Given the description of an element on the screen output the (x, y) to click on. 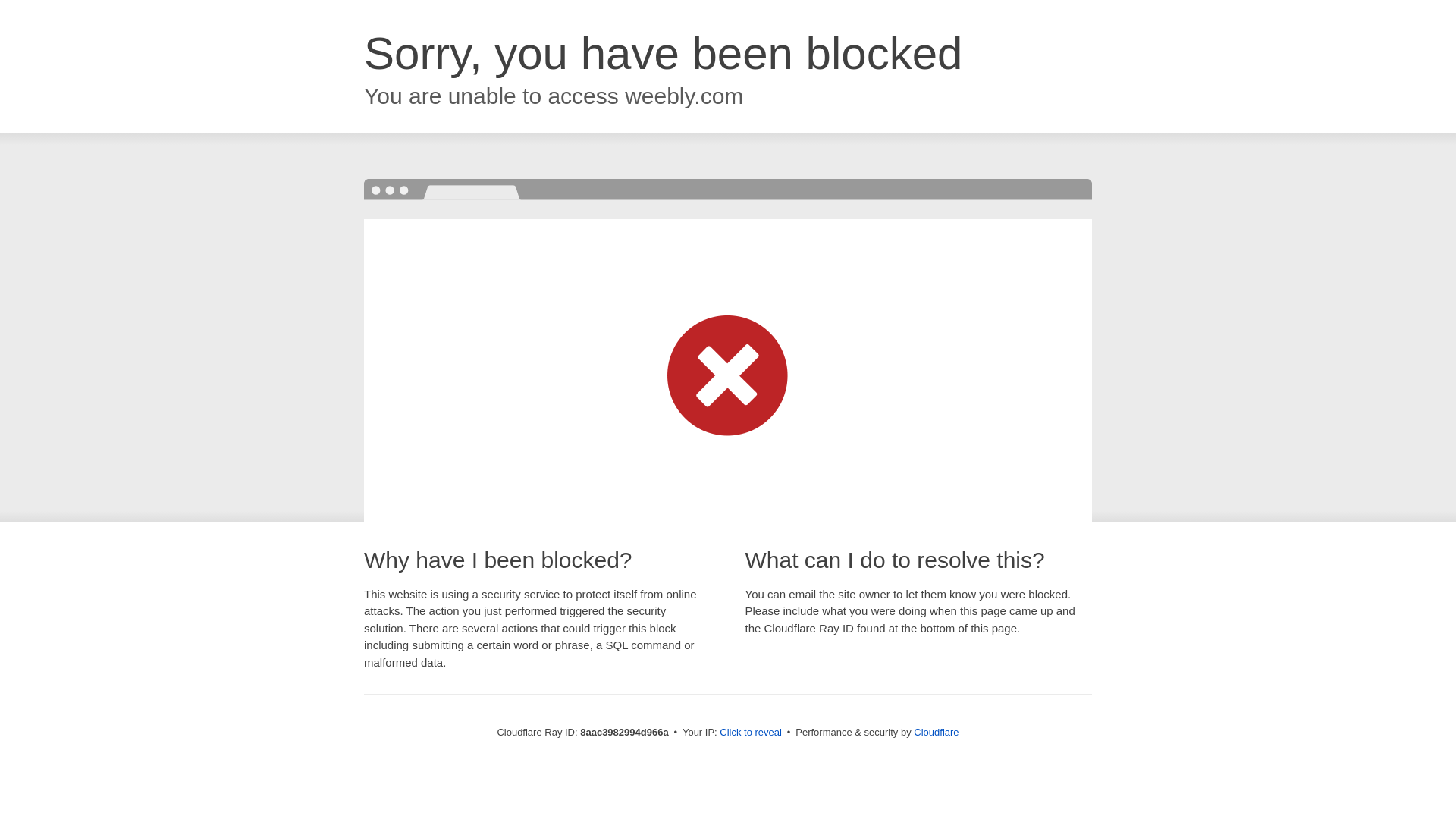
Cloudflare (936, 731)
Click to reveal (750, 732)
